Given the description of an element on the screen output the (x, y) to click on. 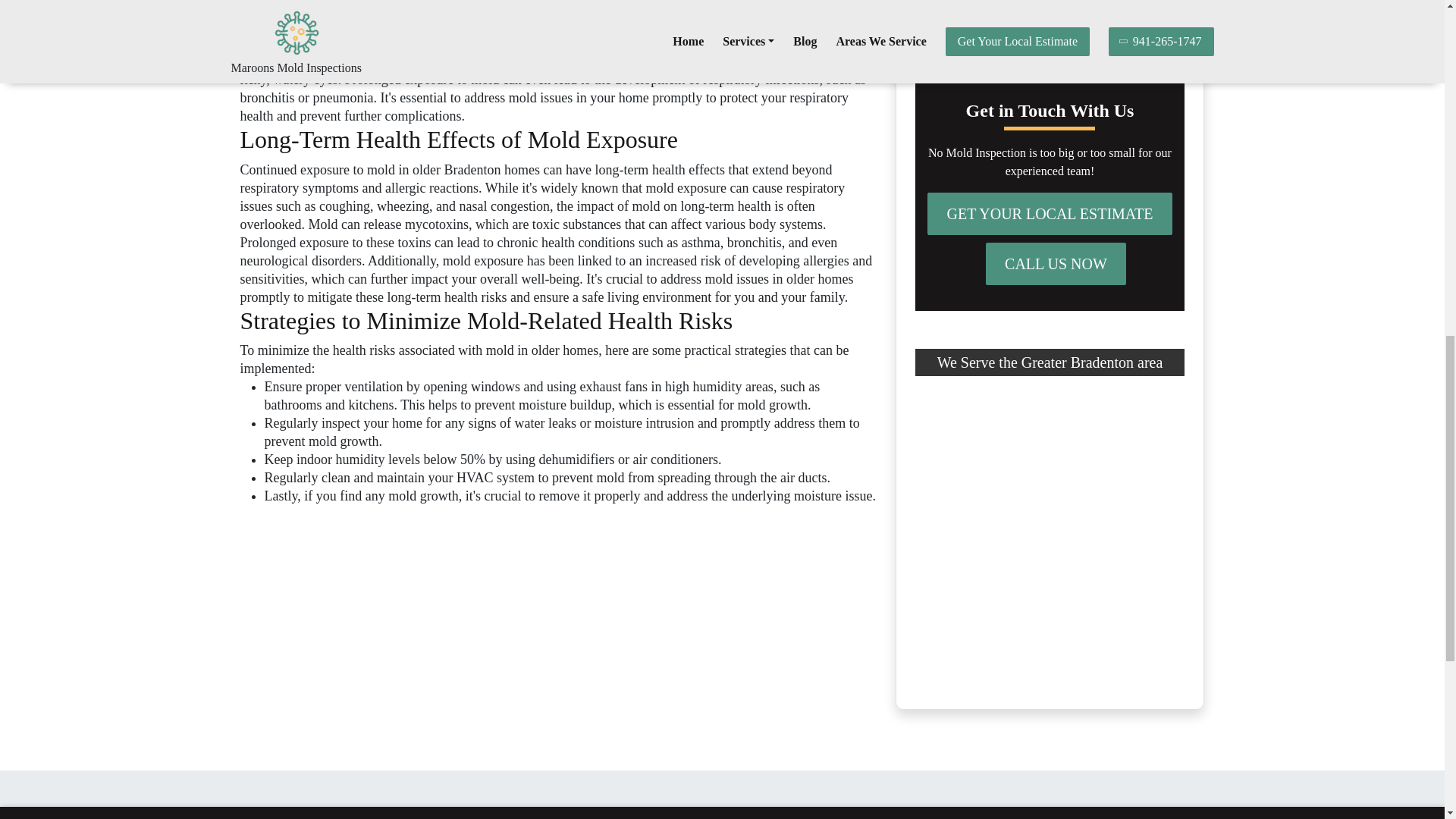
- What Causes House Mold in Bradenton and How to Prevent It? (1046, 15)
CALL US NOW (1055, 263)
GET YOUR LOCAL ESTIMATE (1049, 213)
